Given the description of an element on the screen output the (x, y) to click on. 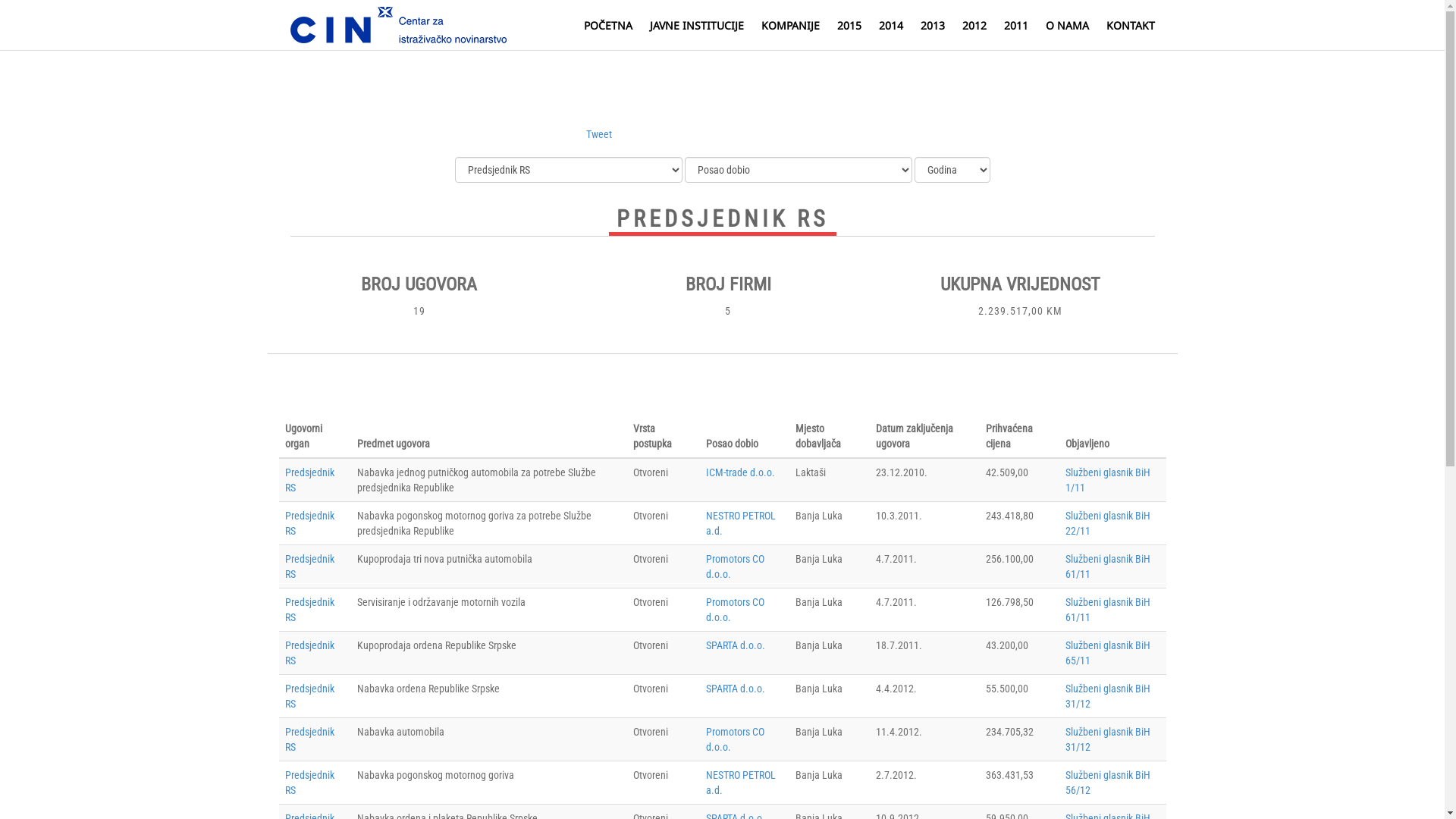
SPARTA d.o.o. Element type: text (735, 645)
Promotors CO d.o.o. Element type: text (735, 566)
Predsjednik RS Element type: text (309, 609)
ICM-trade d.o.o. Element type: text (740, 472)
Predsjednik RS Element type: text (309, 479)
Predsjednik RS Element type: text (309, 782)
2014 Element type: text (890, 25)
NESTRO PETROL a.d. Element type: text (740, 522)
Predsjednik RS Element type: text (309, 695)
Predsjednik RS Element type: text (309, 522)
Tweet Element type: text (598, 134)
2015 Element type: text (849, 25)
Predsjednik RS Element type: text (309, 652)
Predsjednik RS Element type: text (309, 739)
O NAMA Element type: text (1066, 25)
SPARTA d.o.o. Element type: text (735, 688)
2012 Element type: text (973, 25)
logo Element type: hover (397, 24)
KONTAKT Element type: text (1129, 25)
JAVNE INSTITUCIJE Element type: text (696, 25)
2013 Element type: text (932, 25)
Promotors CO d.o.o. Element type: text (735, 739)
2011 Element type: text (1016, 25)
KOMPANIJE Element type: text (790, 25)
Promotors CO d.o.o. Element type: text (735, 609)
Predsjednik RS Element type: text (309, 566)
NESTRO PETROL a.d. Element type: text (740, 782)
